Given the description of an element on the screen output the (x, y) to click on. 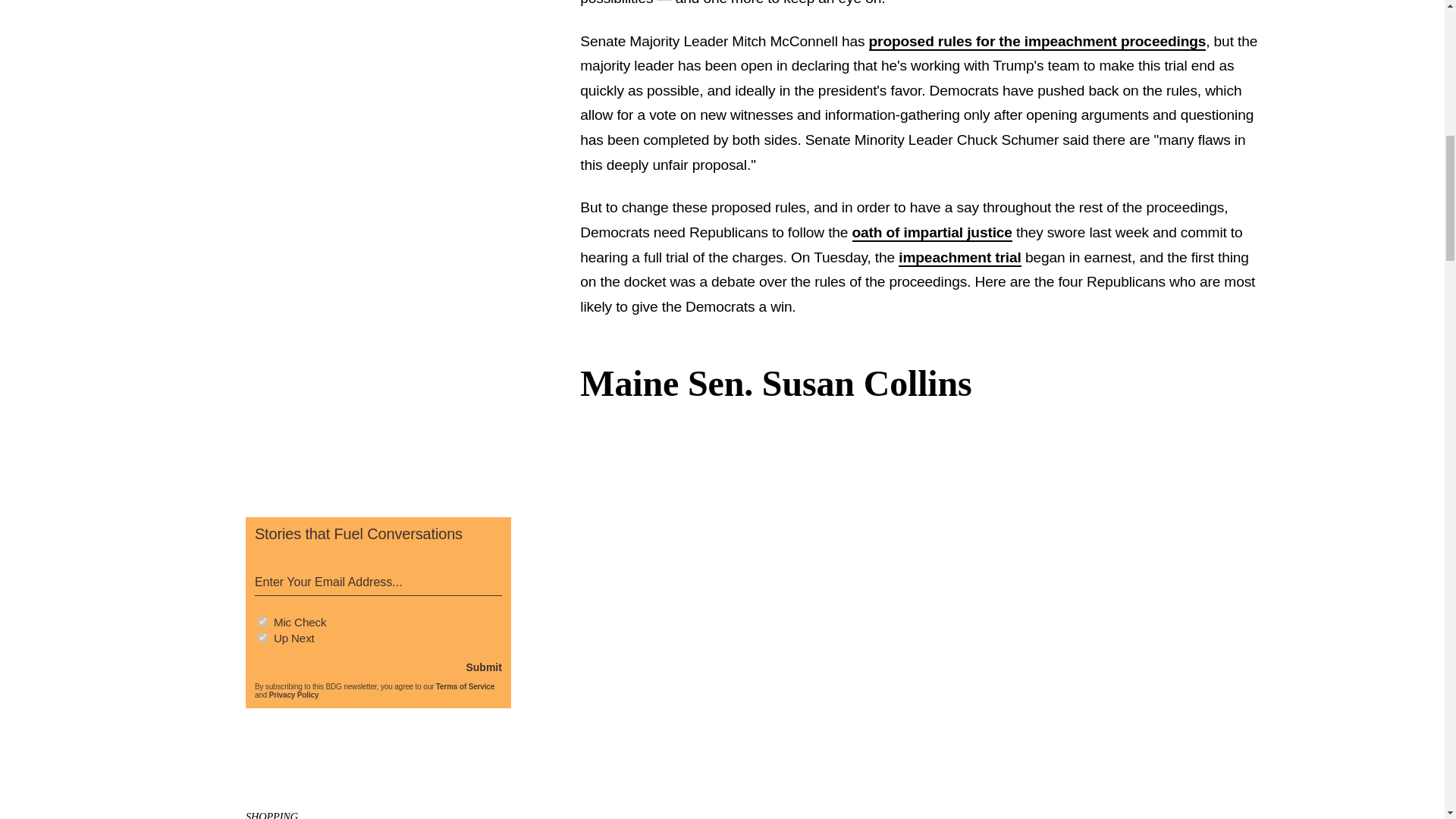
Submit (482, 666)
Privacy Policy (293, 695)
proposed rules for the impeachment proceedings (1038, 41)
oath of impartial justice (931, 232)
impeachment trial (960, 257)
Terms of Service (465, 686)
